Given the description of an element on the screen output the (x, y) to click on. 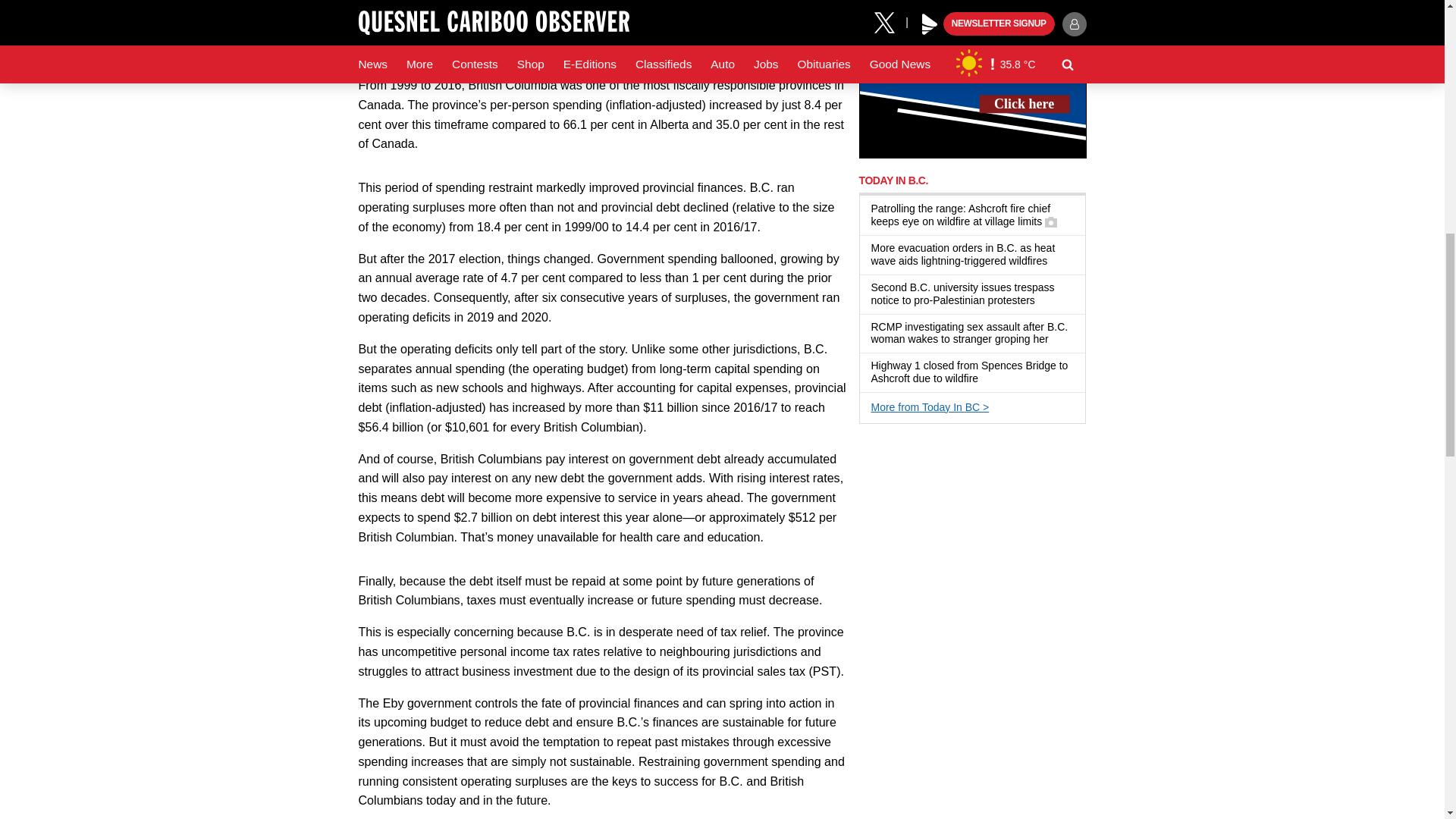
3rd party ad content (972, 79)
Has a gallery (1051, 222)
